Given the description of an element on the screen output the (x, y) to click on. 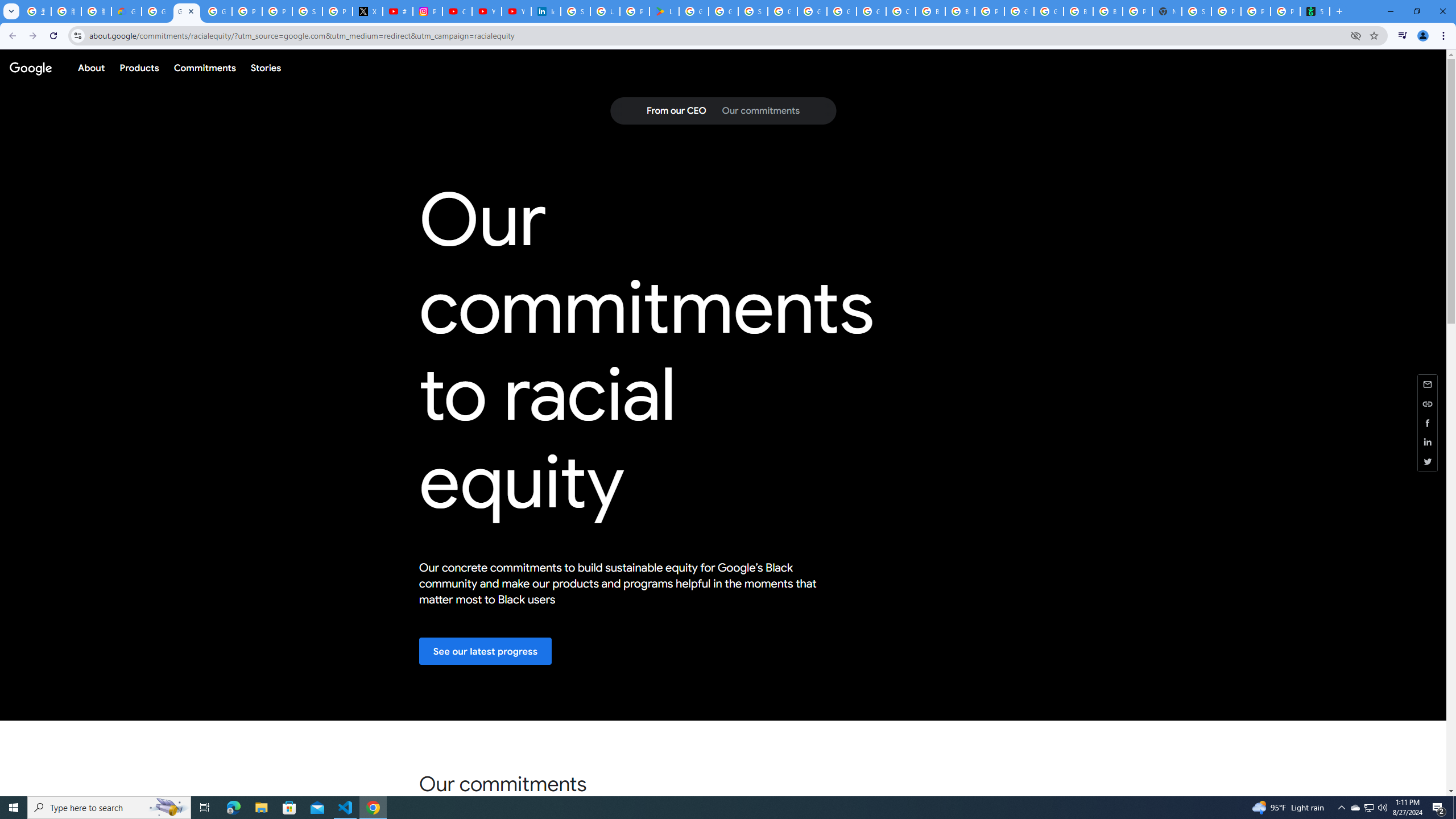
Last Shelter: Survival - Apps on Google Play (664, 11)
Google Cloud Platform (841, 11)
Google (30, 67)
Google Cloud Platform (1048, 11)
#nbabasketballhighlights - YouTube (397, 11)
Products (138, 67)
X (367, 11)
